Given the description of an element on the screen output the (x, y) to click on. 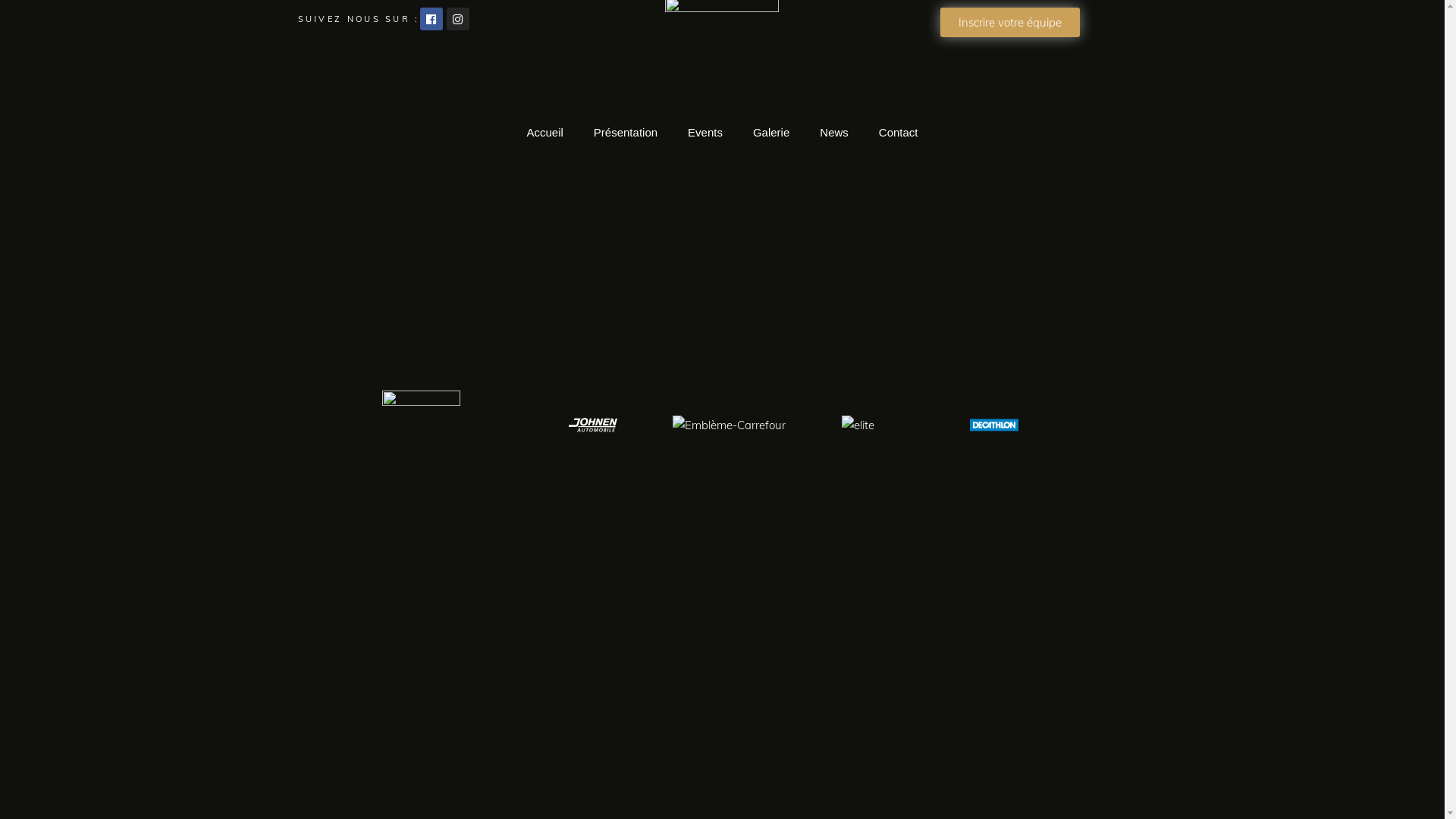
News Element type: text (833, 132)
johnen Element type: hover (592, 424)
elite Element type: hover (857, 424)
Contact Element type: text (898, 132)
Events Element type: text (704, 132)
Galerie Element type: text (770, 132)
Accueil Element type: text (544, 132)
decathlon Element type: hover (993, 424)
